Given the description of an element on the screen output the (x, y) to click on. 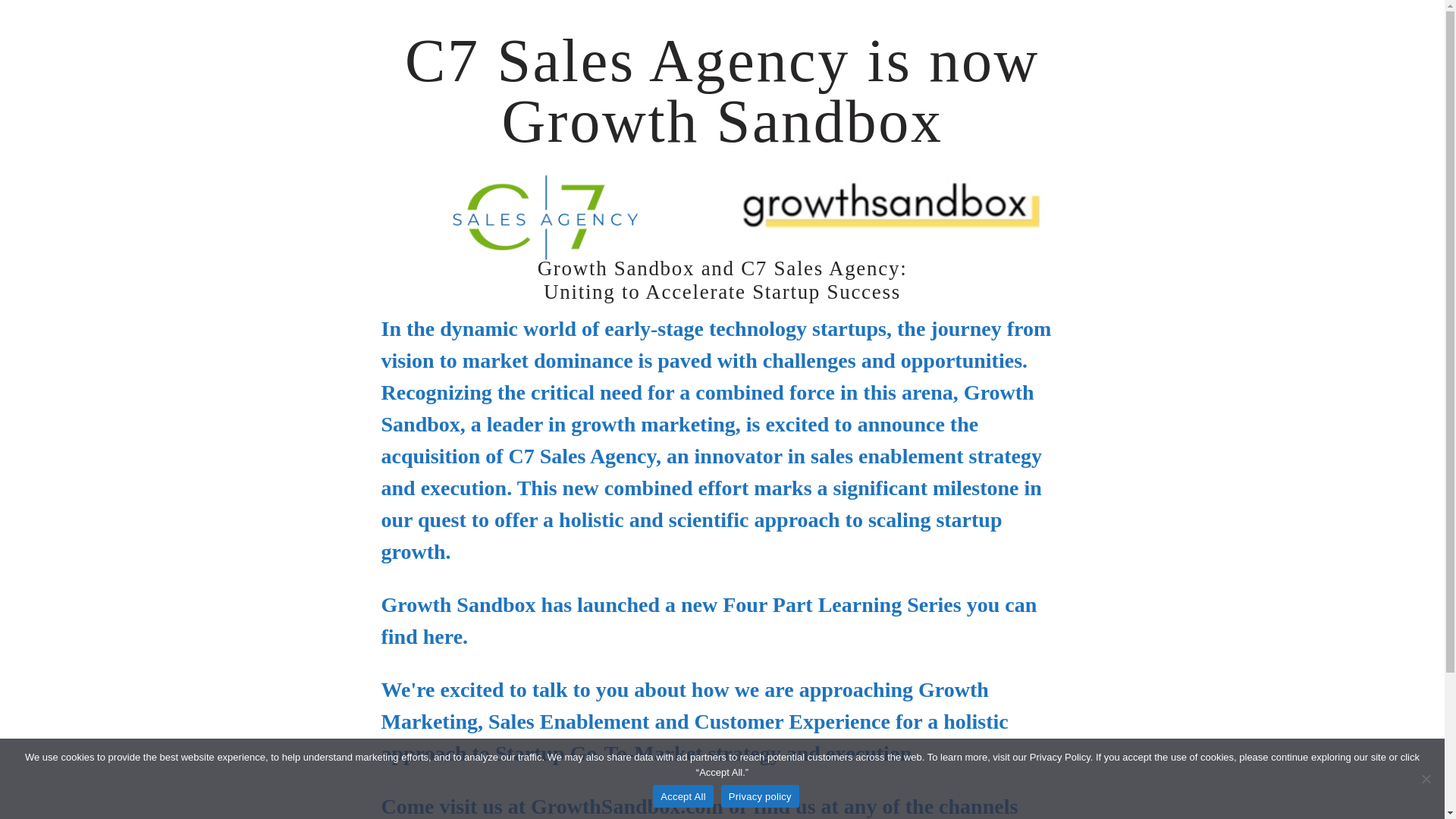
Privacy policy (759, 795)
No (1425, 778)
Accept All (682, 795)
Four Part Learning Series you can find here (708, 620)
GrowthSandbox.com (627, 806)
